Given the description of an element on the screen output the (x, y) to click on. 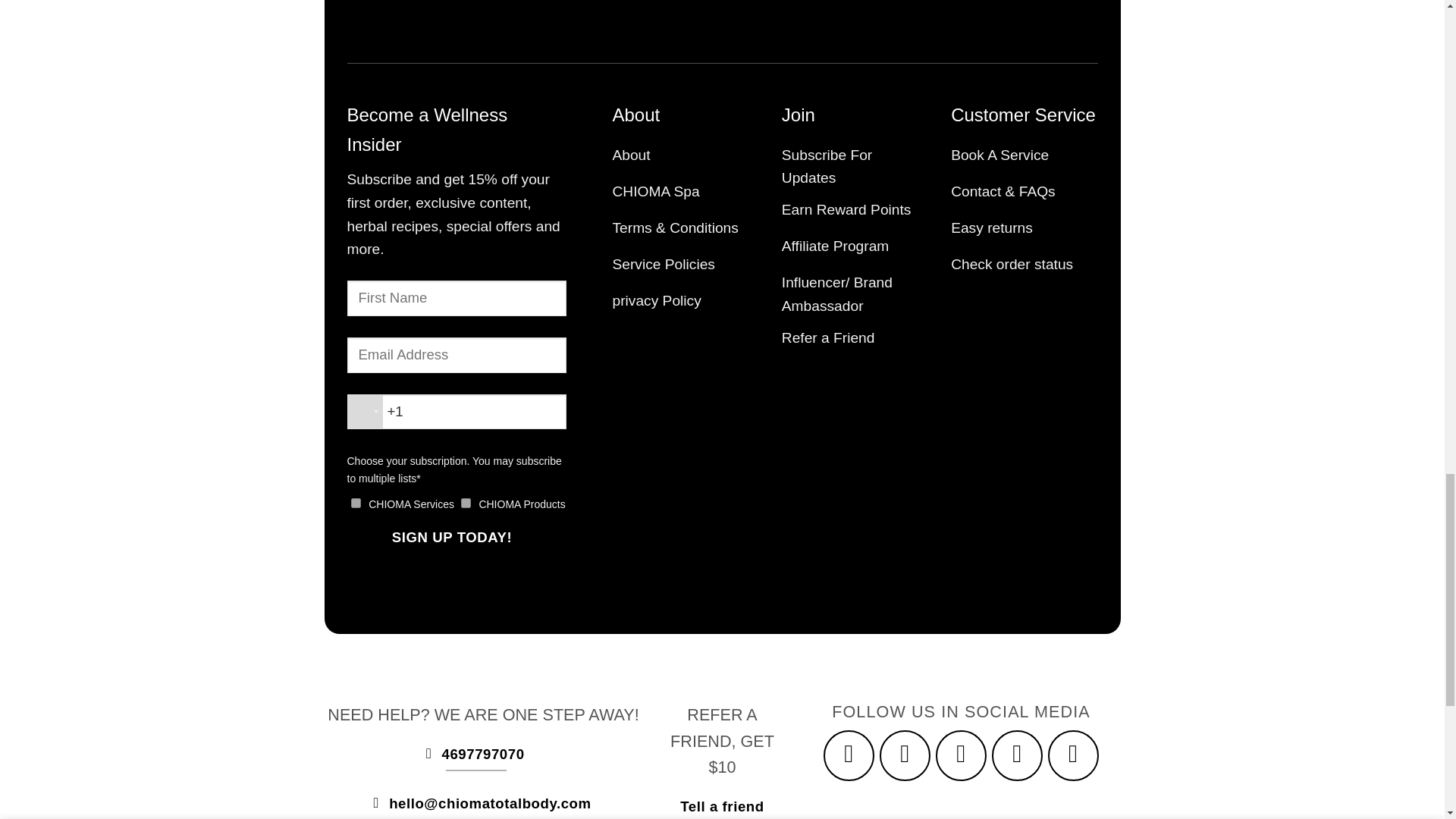
Follow on Twitter (1017, 756)
 Sign Up Today! (449, 538)
Follow on Facebook (849, 756)
Follow on Instagram (905, 756)
Follow on YouTube (1073, 756)
5 (355, 502)
4 (465, 502)
Follow on TikTok (961, 756)
